Given the description of an element on the screen output the (x, y) to click on. 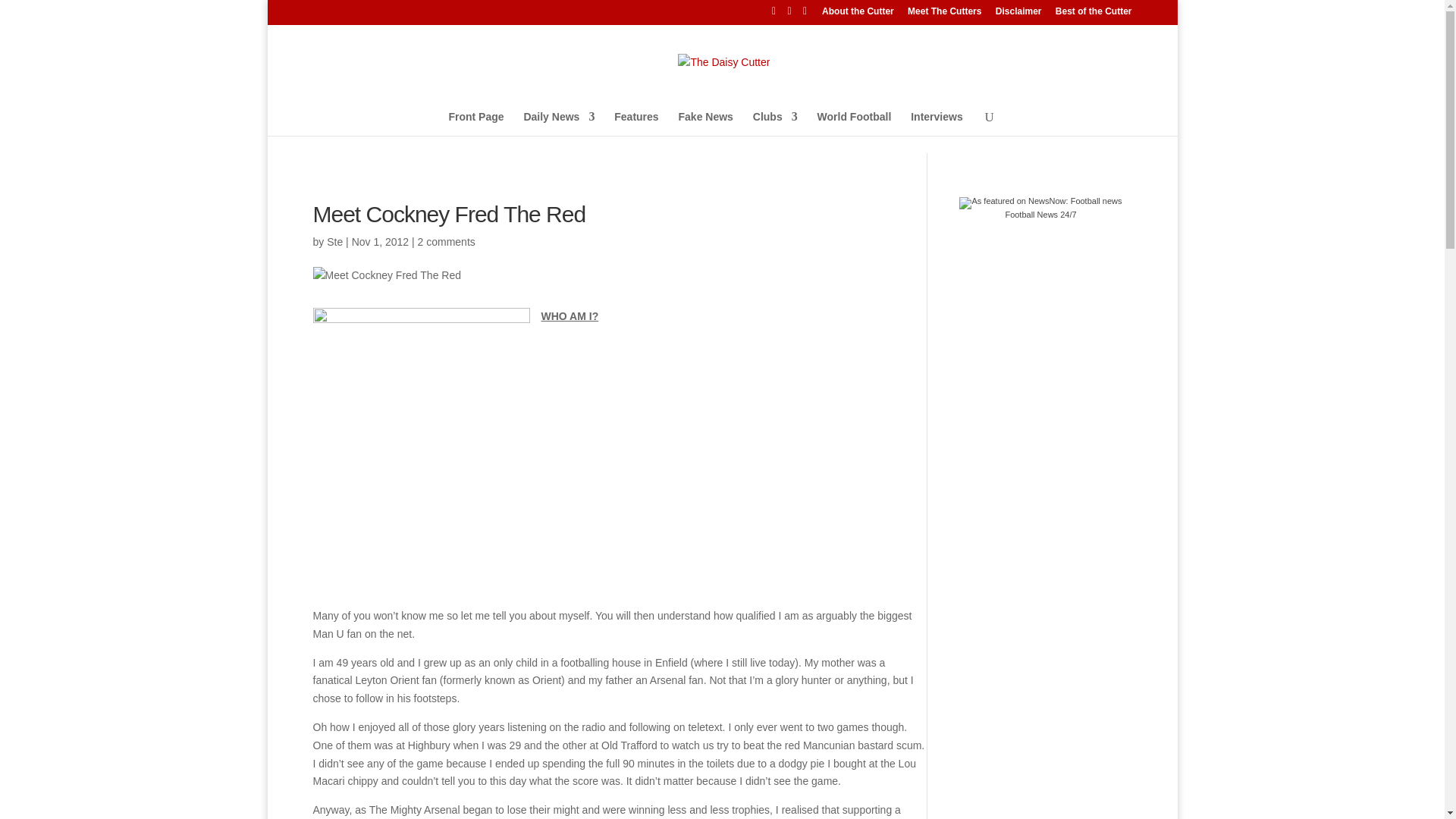
Disclaimer (1018, 14)
Click here for more Football news from NewsNow (1040, 208)
Features (636, 126)
Clubs (774, 126)
Posts by Ste (334, 241)
About the Cutter (857, 14)
Meet The Cutters (944, 14)
Front Page (475, 126)
Best of the Cutter (1093, 14)
fredcockneyred (421, 451)
Daily News (558, 126)
World Football (853, 126)
Interviews (936, 126)
Fake News (705, 126)
